Given the description of an element on the screen output the (x, y) to click on. 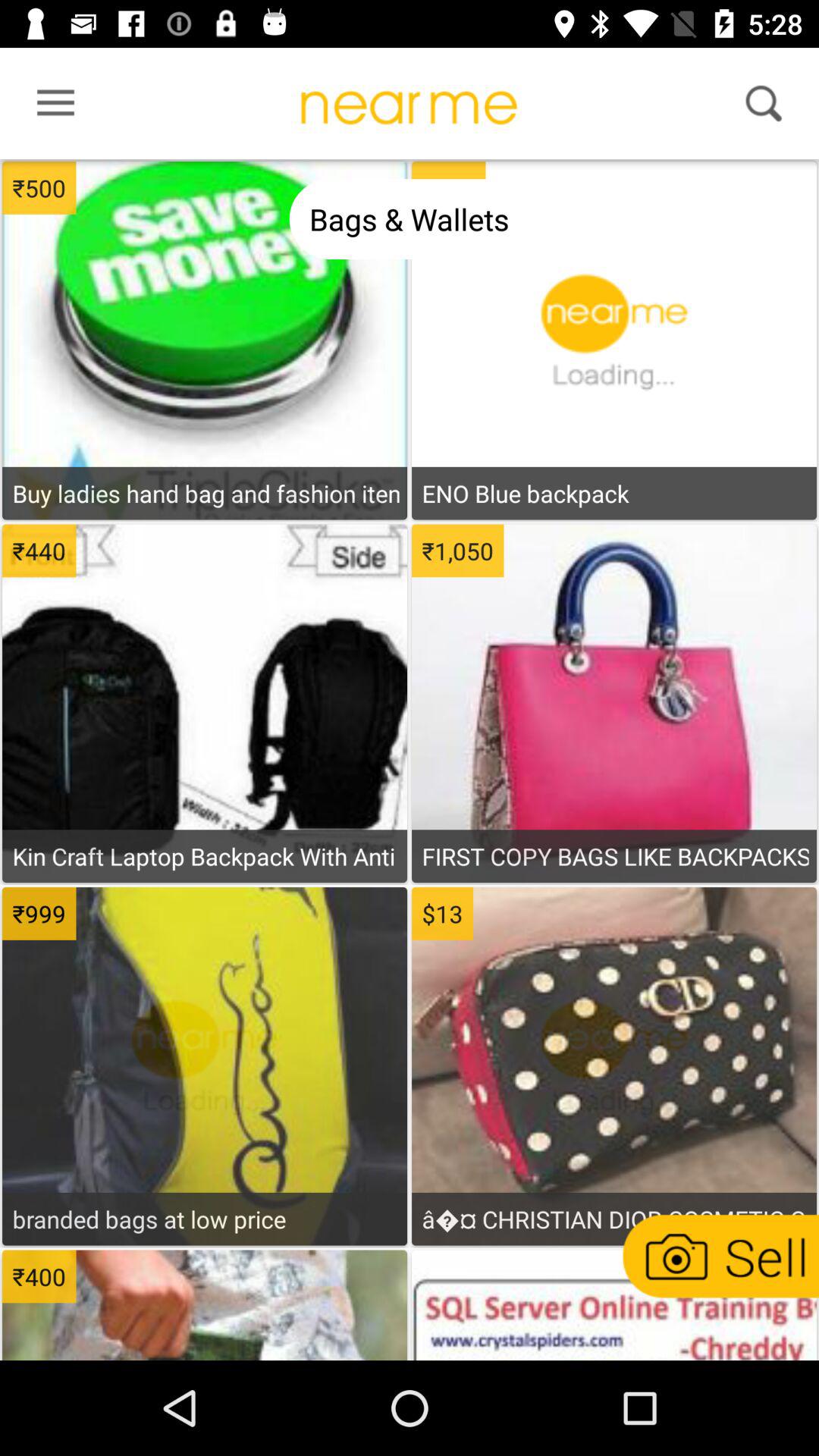
see item (613, 545)
